Given the description of an element on the screen output the (x, y) to click on. 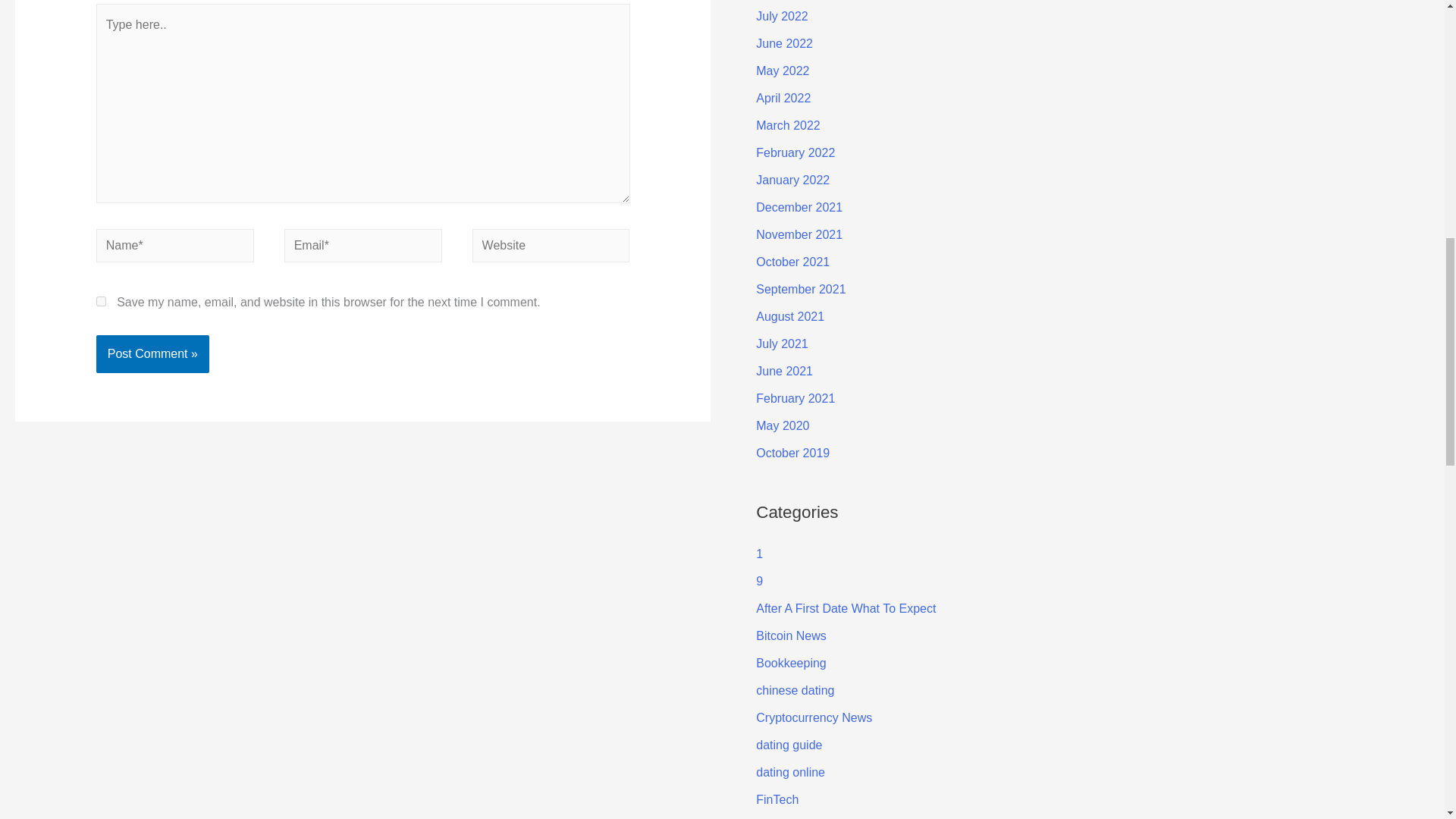
yes (101, 301)
